Given the description of an element on the screen output the (x, y) to click on. 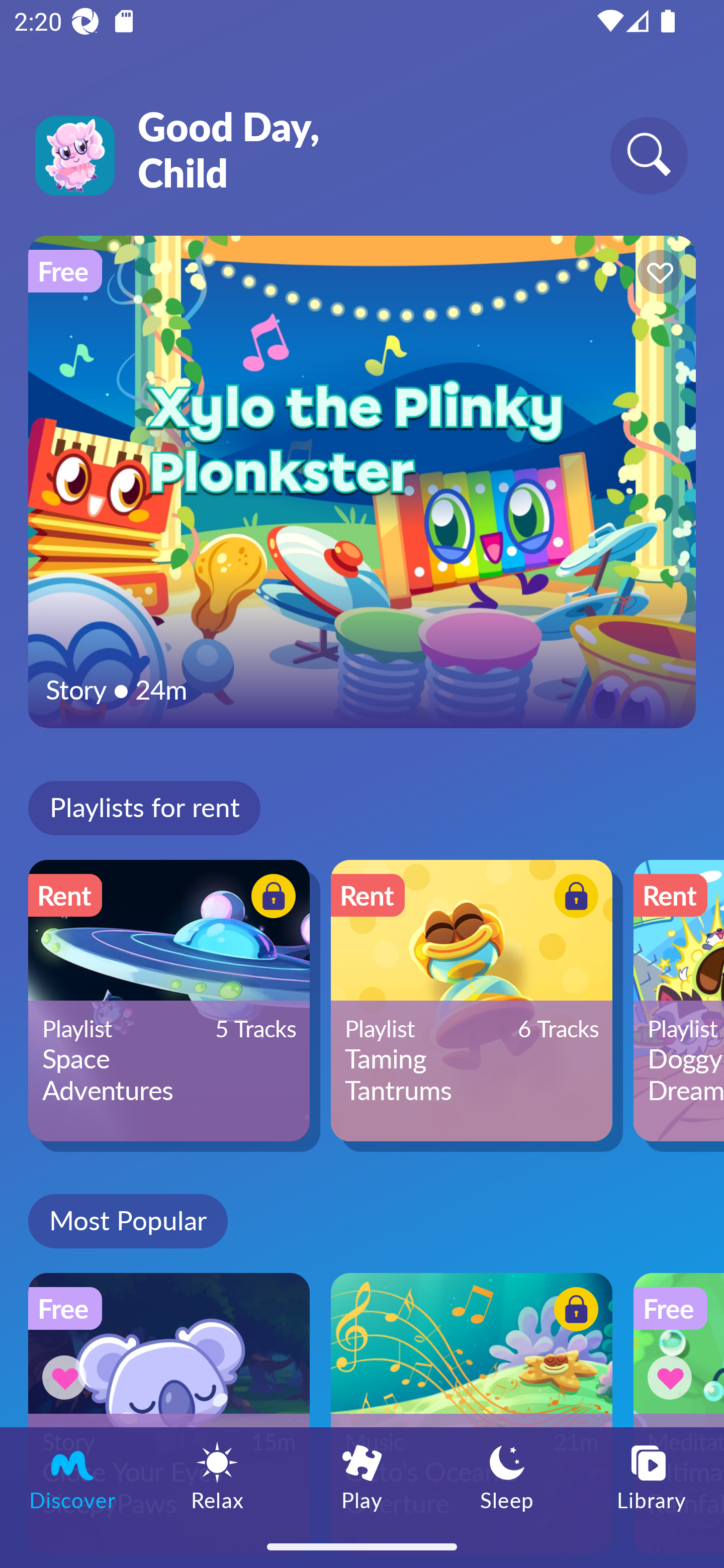
Search (648, 154)
Featured Content Free Button Story ● 24m (361, 481)
Button (656, 274)
Button (269, 898)
Button (573, 898)
Button (573, 1312)
Button (67, 1377)
Button (672, 1377)
Relax (216, 1475)
Play (361, 1475)
Sleep (506, 1475)
Library (651, 1475)
